Given the description of an element on the screen output the (x, y) to click on. 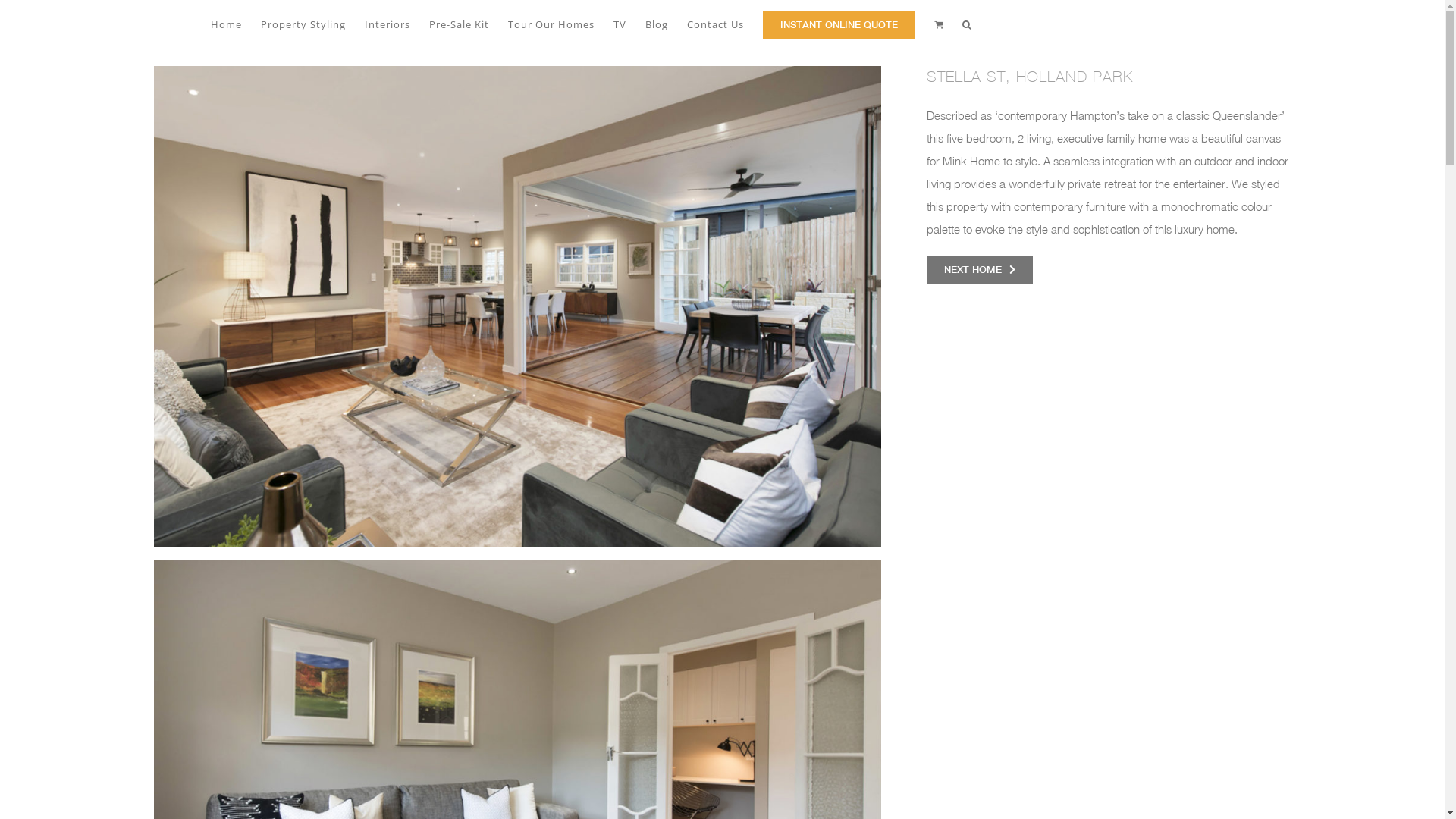
Contact Us Element type: text (715, 23)
Tour Our Homes Element type: text (551, 23)
INSTANT ONLINE QUOTE Element type: text (838, 23)
NEXT HOME Element type: text (979, 269)
Home Element type: text (225, 23)
Interiors Element type: text (386, 23)
TV Element type: text (618, 23)
Search Element type: hover (967, 23)
REA Living and Dining Element type: hover (517, 305)
Pre-Sale Kit Element type: text (459, 23)
Property Styling Element type: text (302, 23)
Blog Element type: text (655, 23)
